Given the description of an element on the screen output the (x, y) to click on. 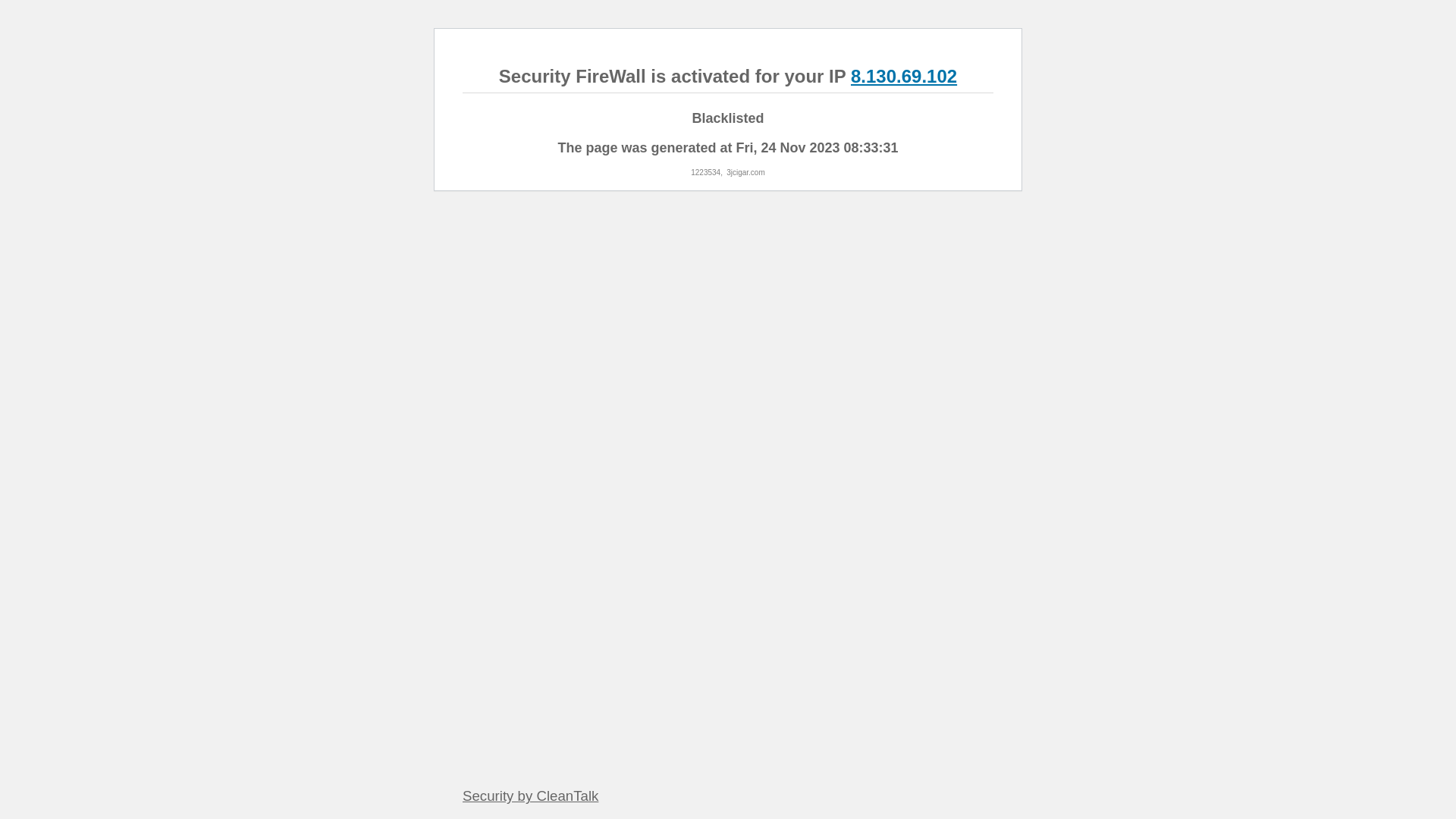
Security by CleanTalk Element type: text (530, 795)
8.130.69.102 Element type: text (903, 75)
